Given the description of an element on the screen output the (x, y) to click on. 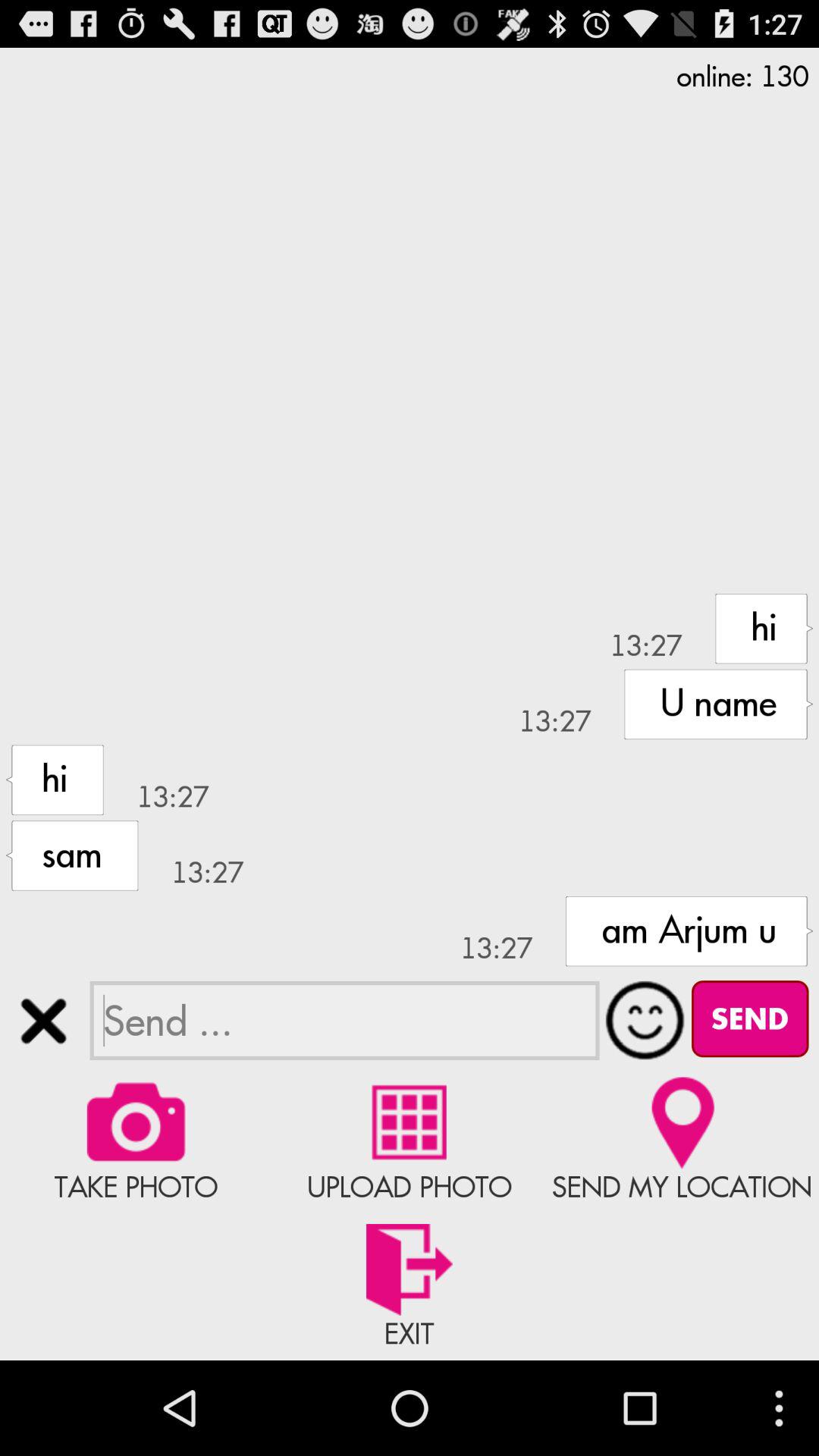
close conversation chat (43, 1020)
